Given the description of an element on the screen output the (x, y) to click on. 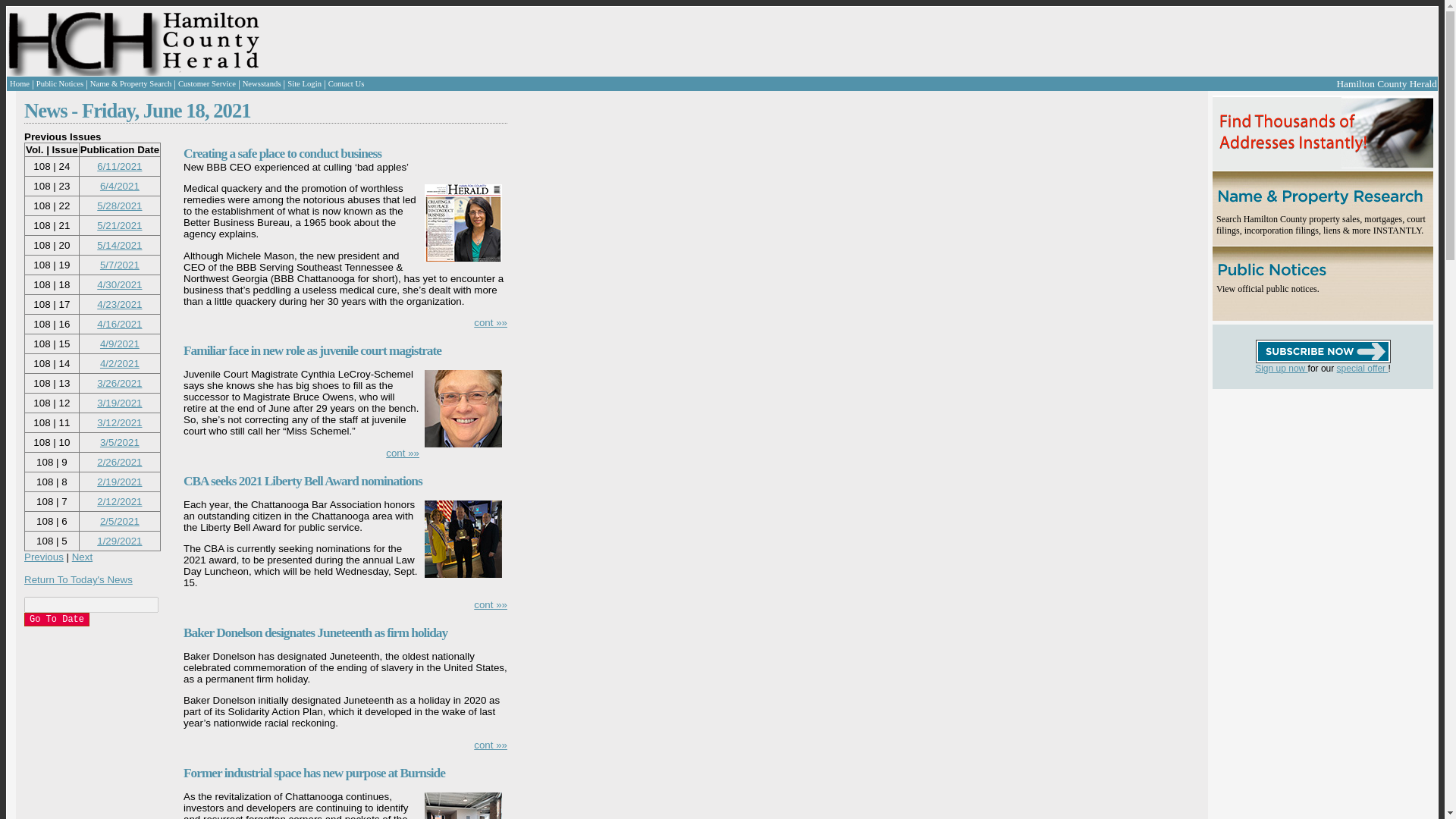
Contact Us (347, 83)
Next (82, 556)
Customer Service (206, 83)
Site Login (303, 83)
Return To Today's News (78, 579)
Newsstands (262, 83)
Familiar face in new role as juvenile court magistrate (312, 350)
Public Notices (59, 83)
Creating a safe place to conduct business (282, 153)
Go To Date (56, 619)
Previous (44, 556)
Home (19, 83)
Go To Date (56, 619)
3rd party ad content (579, 41)
3rd party ad content (1302, 483)
